Given the description of an element on the screen output the (x, y) to click on. 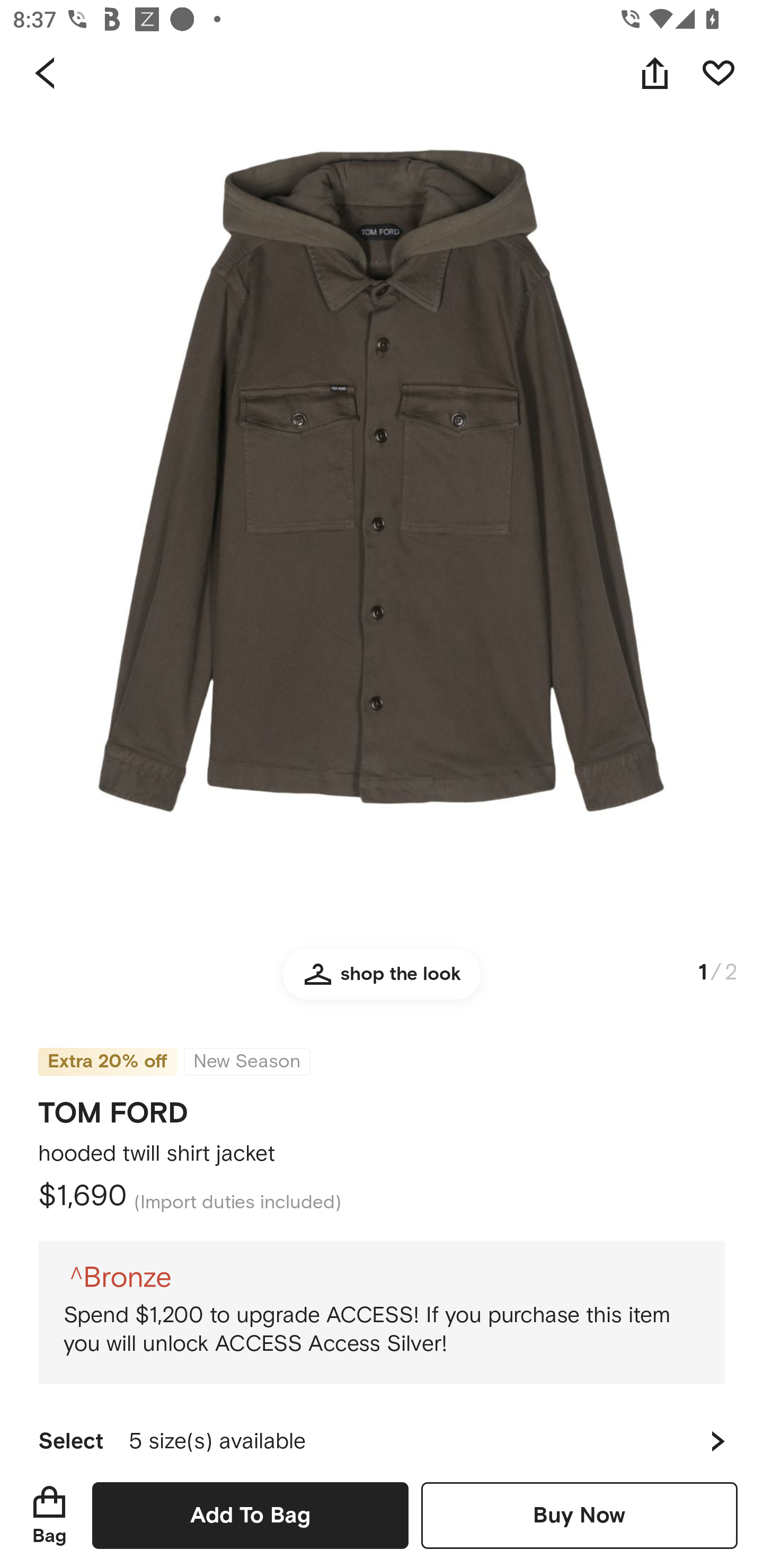
shop the look (381, 982)
Extra 20% off (107, 1049)
TOM FORD (113, 1107)
Select 5 size(s) available (381, 1432)
Bag (49, 1515)
Add To Bag (250, 1515)
Buy Now (579, 1515)
